Given the description of an element on the screen output the (x, y) to click on. 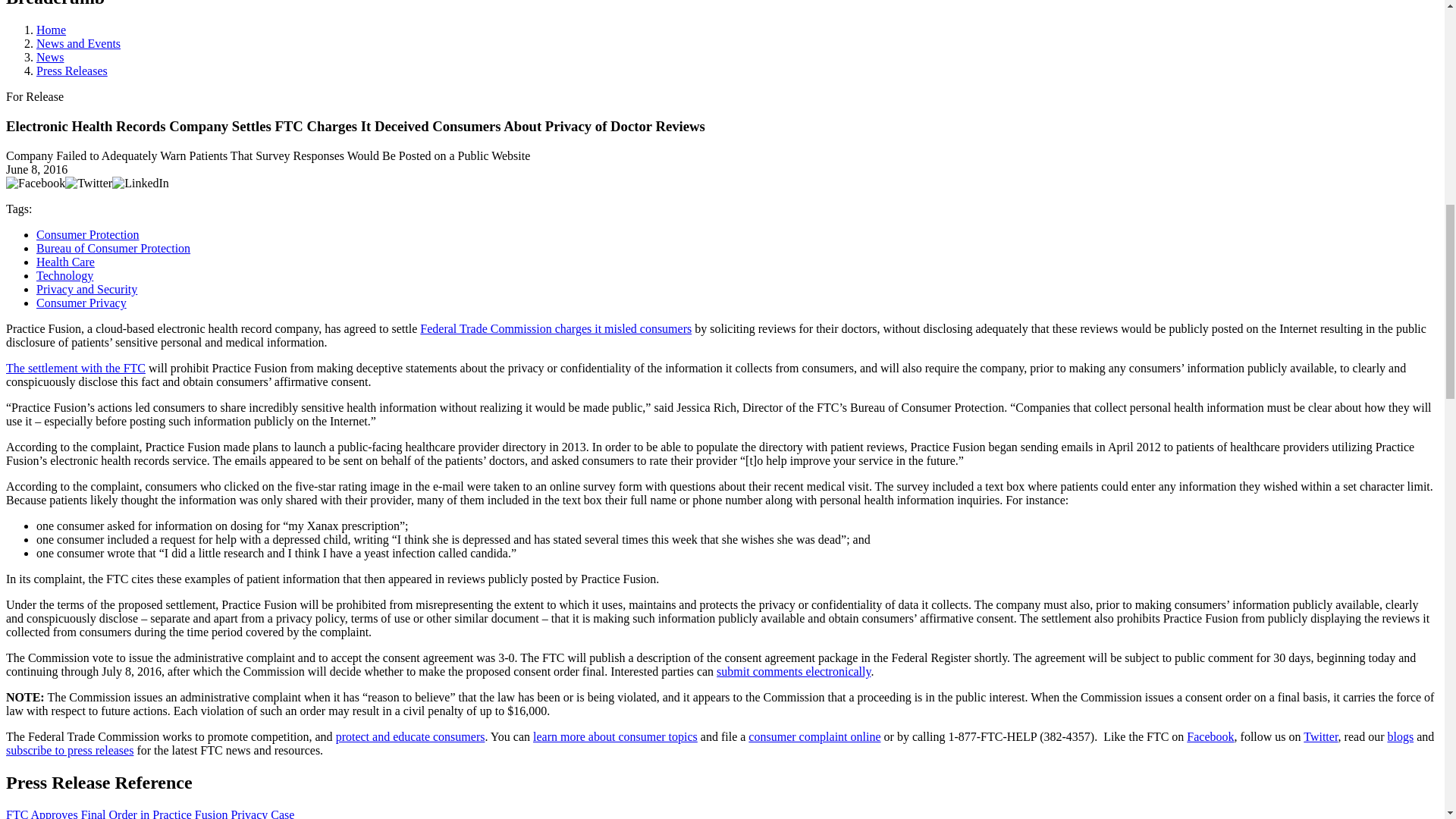
News (50, 56)
News and Events (78, 42)
Press Releases (71, 70)
Home (50, 29)
